Given the description of an element on the screen output the (x, y) to click on. 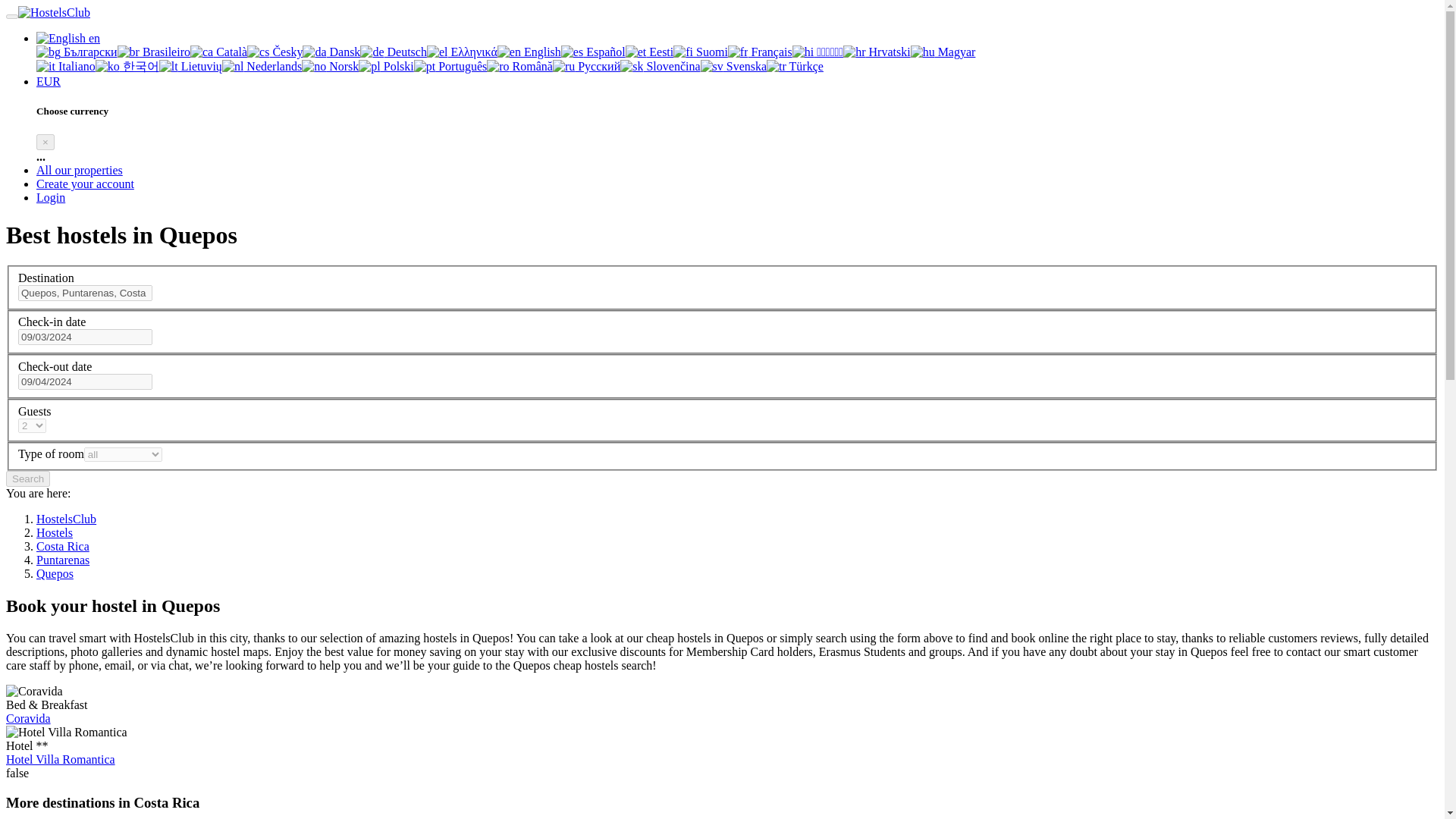
English (509, 51)
Nederlands (261, 65)
HostelsClub (66, 518)
Polski (385, 65)
Suomi (700, 51)
Search (27, 478)
English (60, 38)
Create your account (84, 183)
Magyar (943, 51)
Suomi (682, 51)
